Given the description of an element on the screen output the (x, y) to click on. 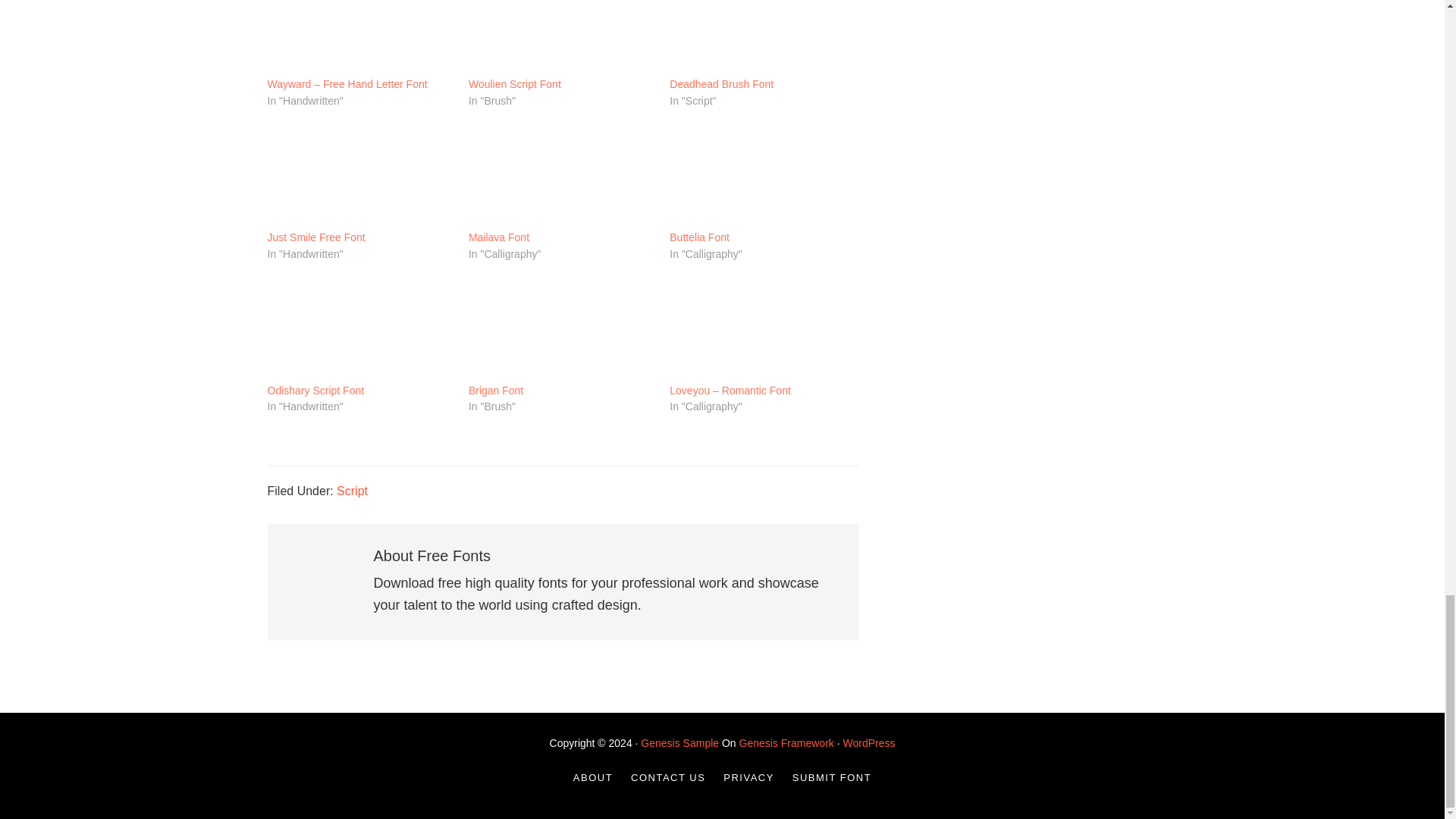
Deadhead Brush Font (762, 38)
Just Smile Free Font (359, 175)
Mailava Font (560, 175)
Mailava Font (498, 237)
Deadhead Brush Font (721, 84)
Buttelia Font (699, 237)
Just Smile Free Font (315, 237)
Woulien Script Font (560, 38)
Odishary Script Font (359, 328)
Brigan Font (495, 391)
